Given the description of an element on the screen output the (x, y) to click on. 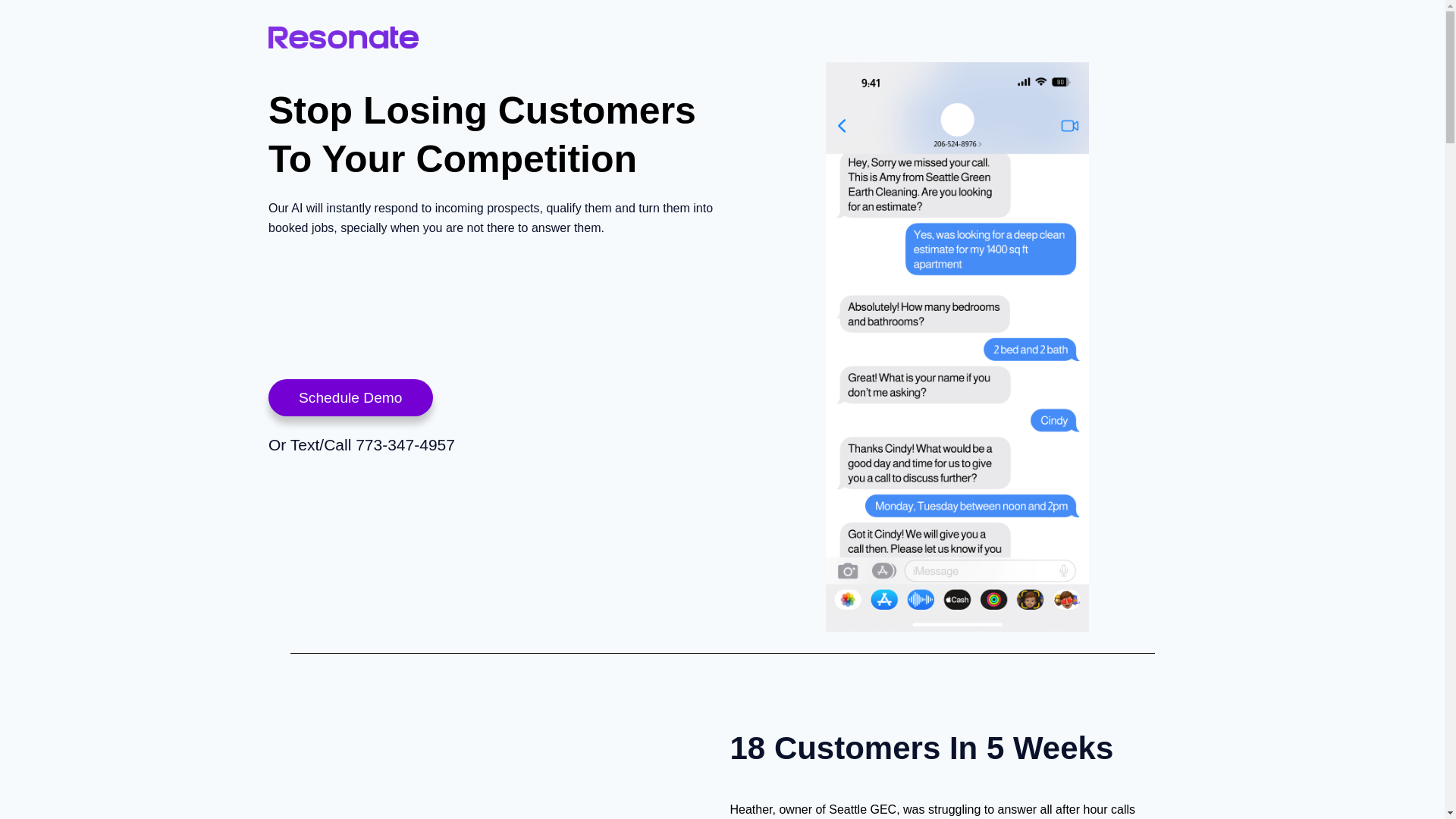
Schedule Demo (349, 397)
